Given the description of an element on the screen output the (x, y) to click on. 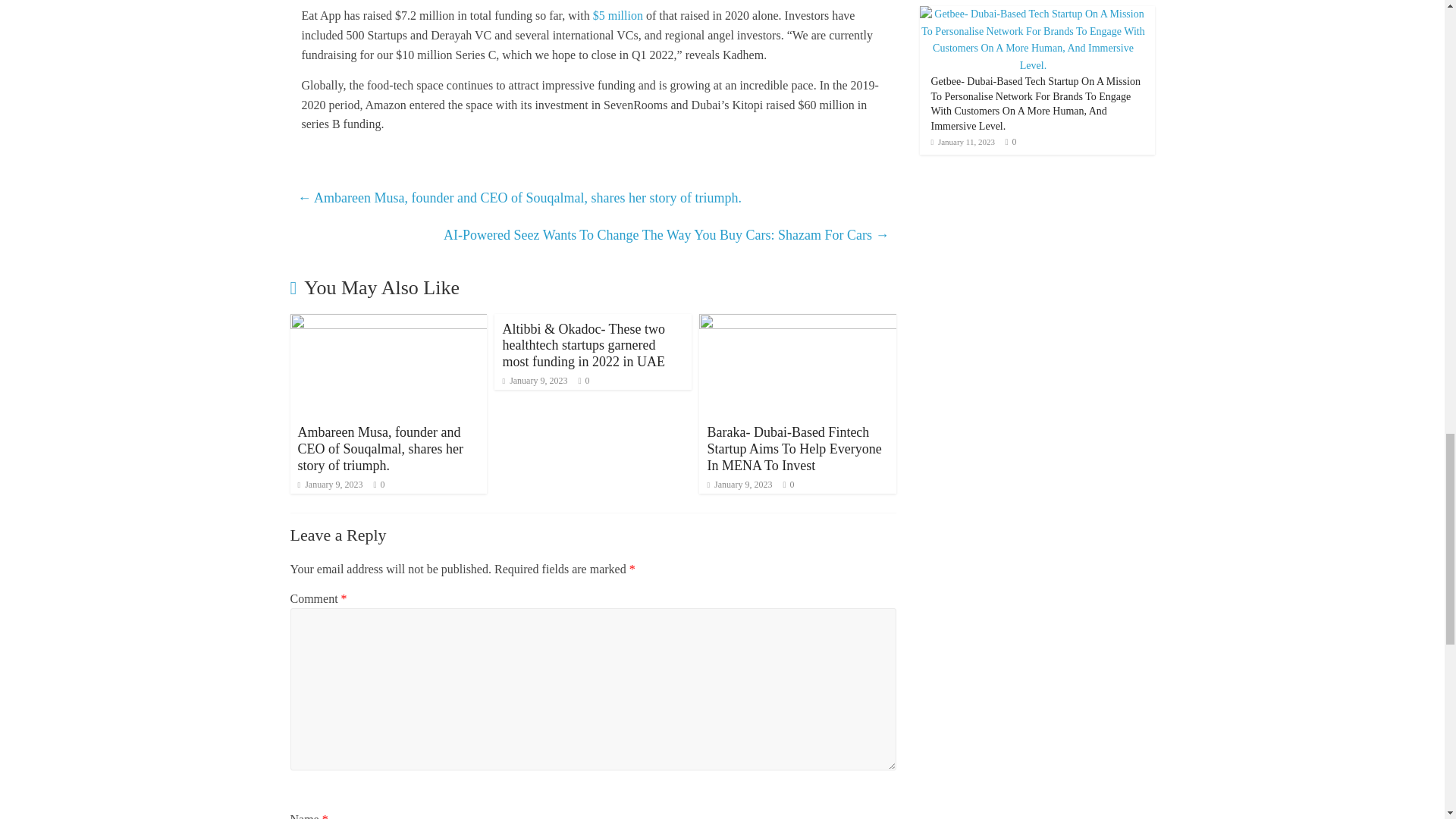
January 9, 2023 (329, 484)
0 (382, 484)
2:11 pm (329, 484)
10:27 am (534, 380)
0 (587, 380)
0 (791, 484)
January 9, 2023 (534, 380)
January 9, 2023 (738, 484)
